Given the description of an element on the screen output the (x, y) to click on. 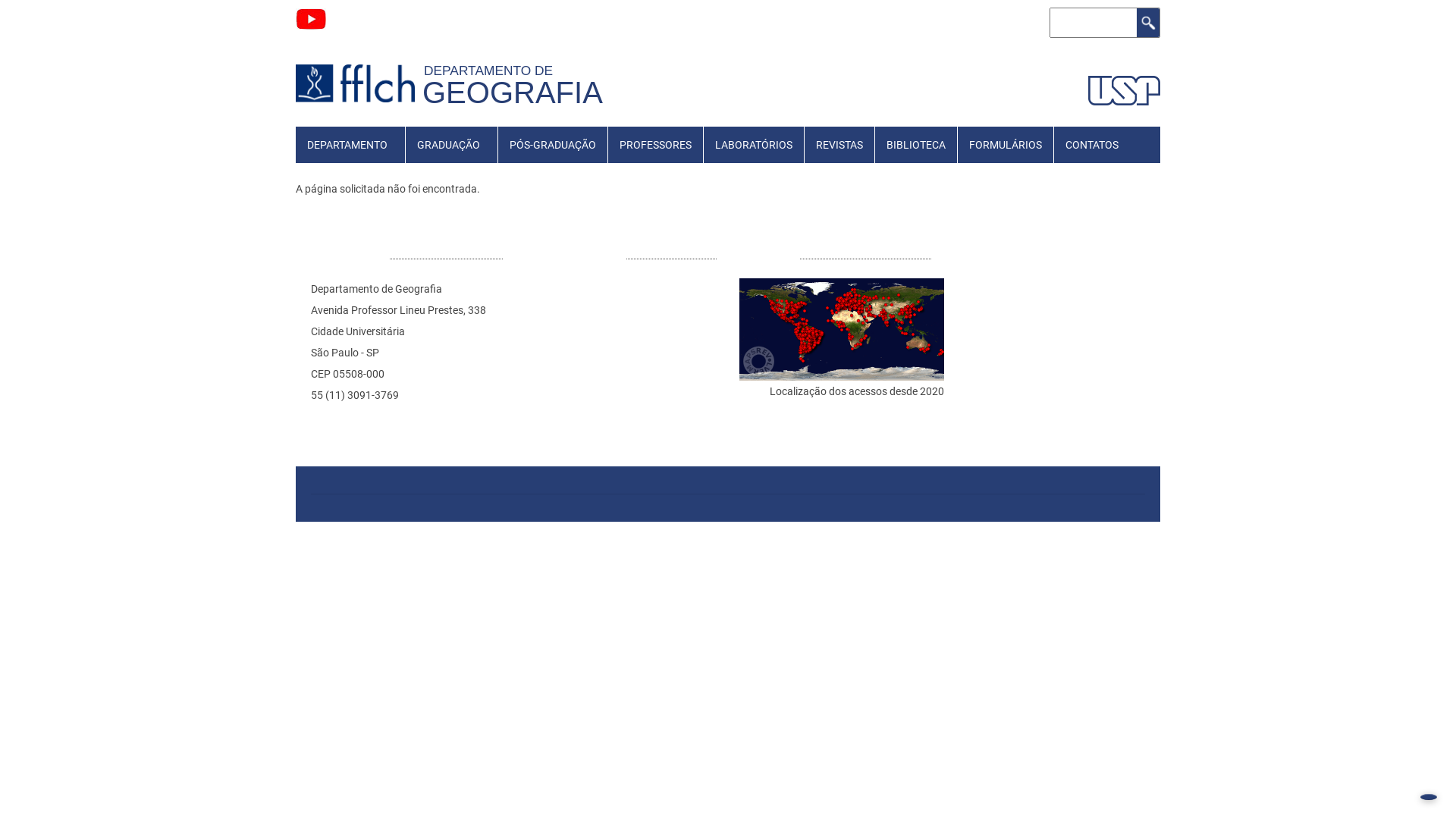
DEPARTAMENTO Element type: text (346, 144)
REVISTAS Element type: text (839, 144)
BIBLIOTECA Element type: text (916, 144)
Back to Top Element type: hover (1428, 796)
DEPARTAMENTO DE   Element type: text (491, 70)
CONTATOS Element type: text (1091, 144)
PROFESSORES Element type: text (655, 144)
Buscar Element type: text (1147, 22)
GEOGRAFIA Element type: text (512, 92)
